Given the description of an element on the screen output the (x, y) to click on. 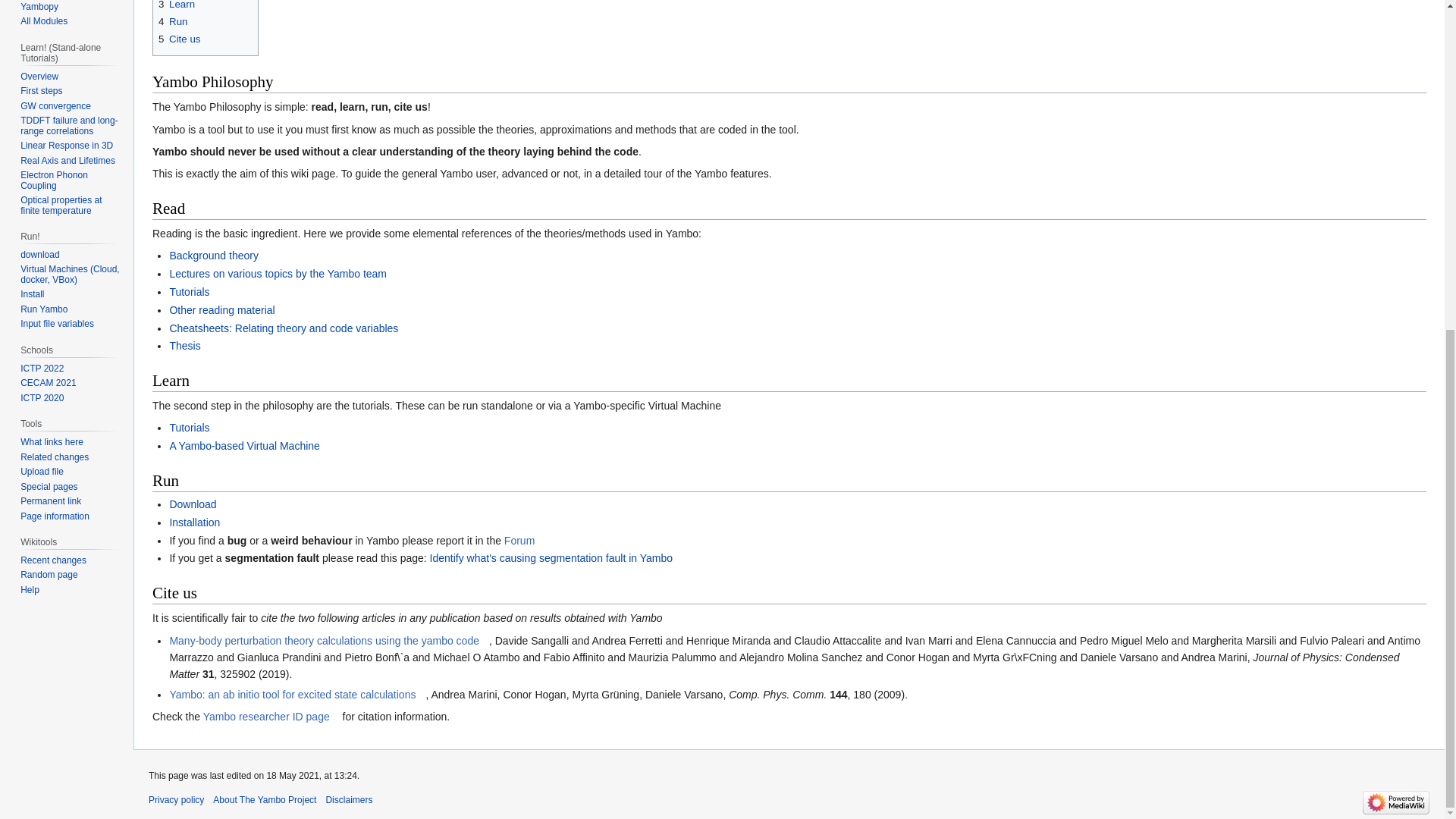
Thesis (184, 345)
Yambo Virtual Machine (243, 445)
Identify what's causing segmentation fault in Yambo (550, 558)
3 Learn (176, 4)
Yambo: an ab initio tool for excited state calculations (296, 694)
Forum (523, 540)
Lectures on various topics by the Yambo team (277, 273)
Installation (193, 522)
A Yambo-based Virtual Machine (243, 445)
Installation (193, 522)
Theory (213, 255)
4 Run (172, 21)
Selected Readings (221, 309)
Tutorials (188, 291)
Thesis (184, 345)
